Given the description of an element on the screen output the (x, y) to click on. 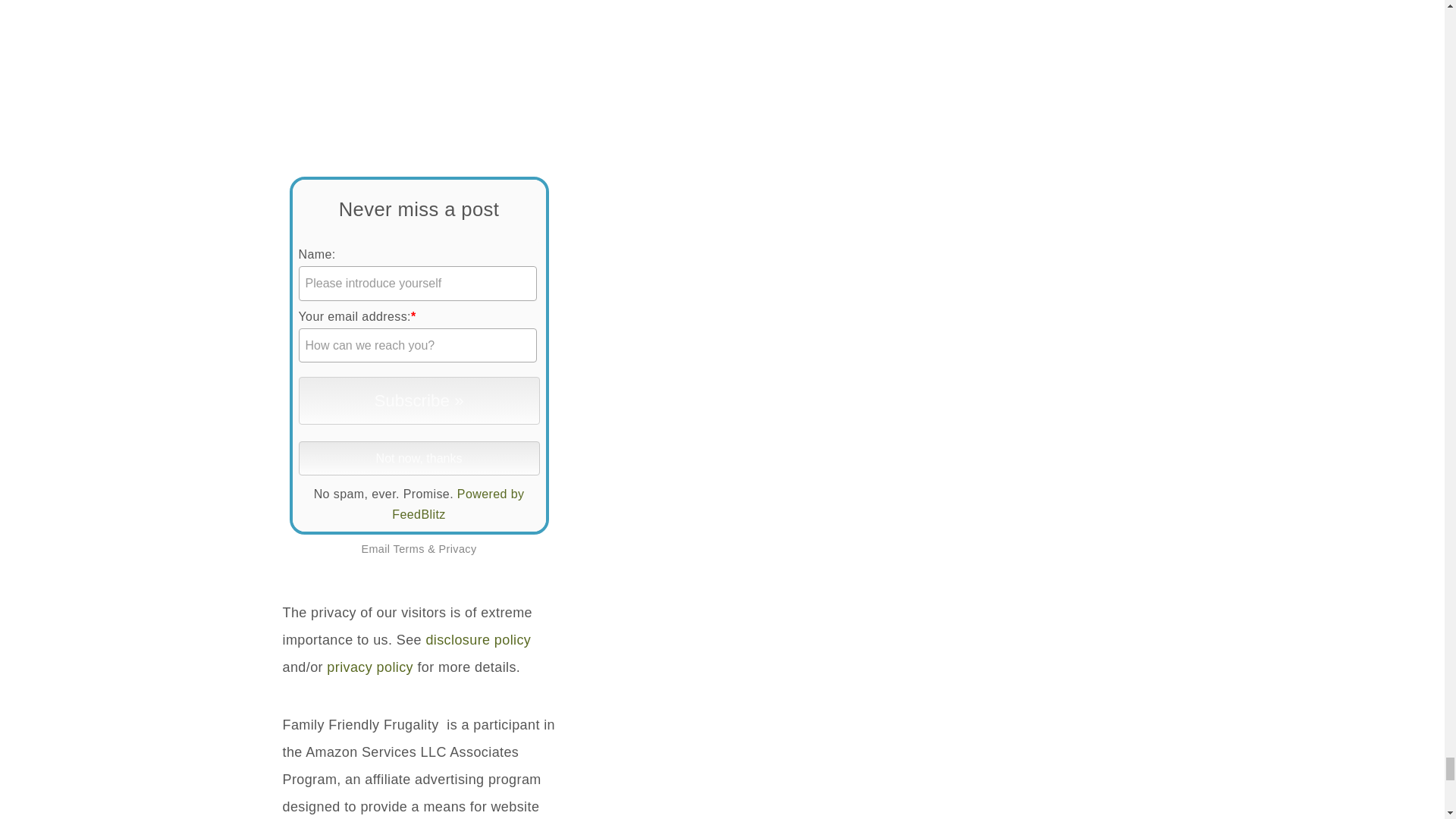
Not now, thanks (419, 458)
Please introduce yourself (417, 283)
